Given the description of an element on the screen output the (x, y) to click on. 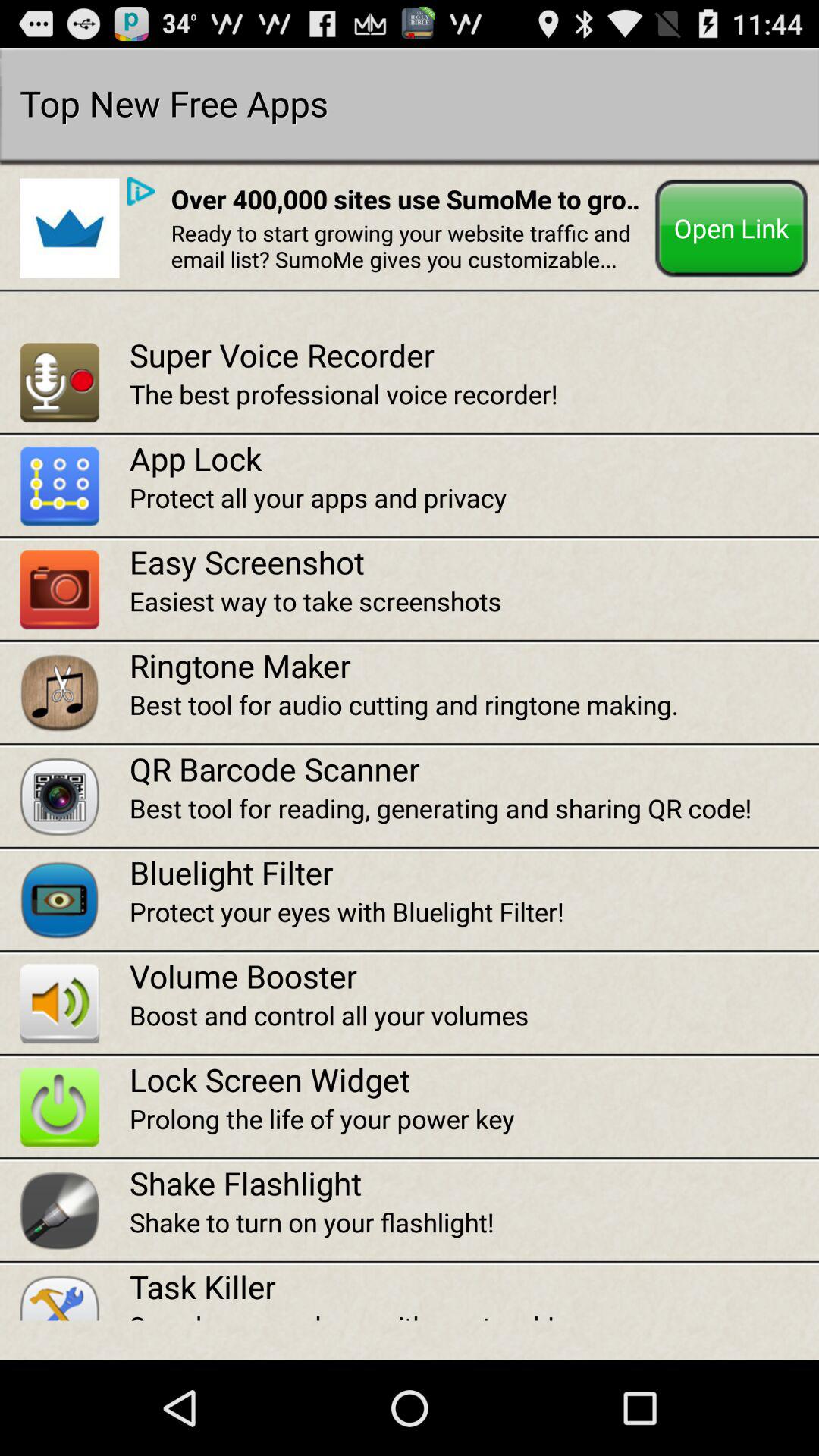
open the app below shake flashlight icon (474, 1221)
